Given the description of an element on the screen output the (x, y) to click on. 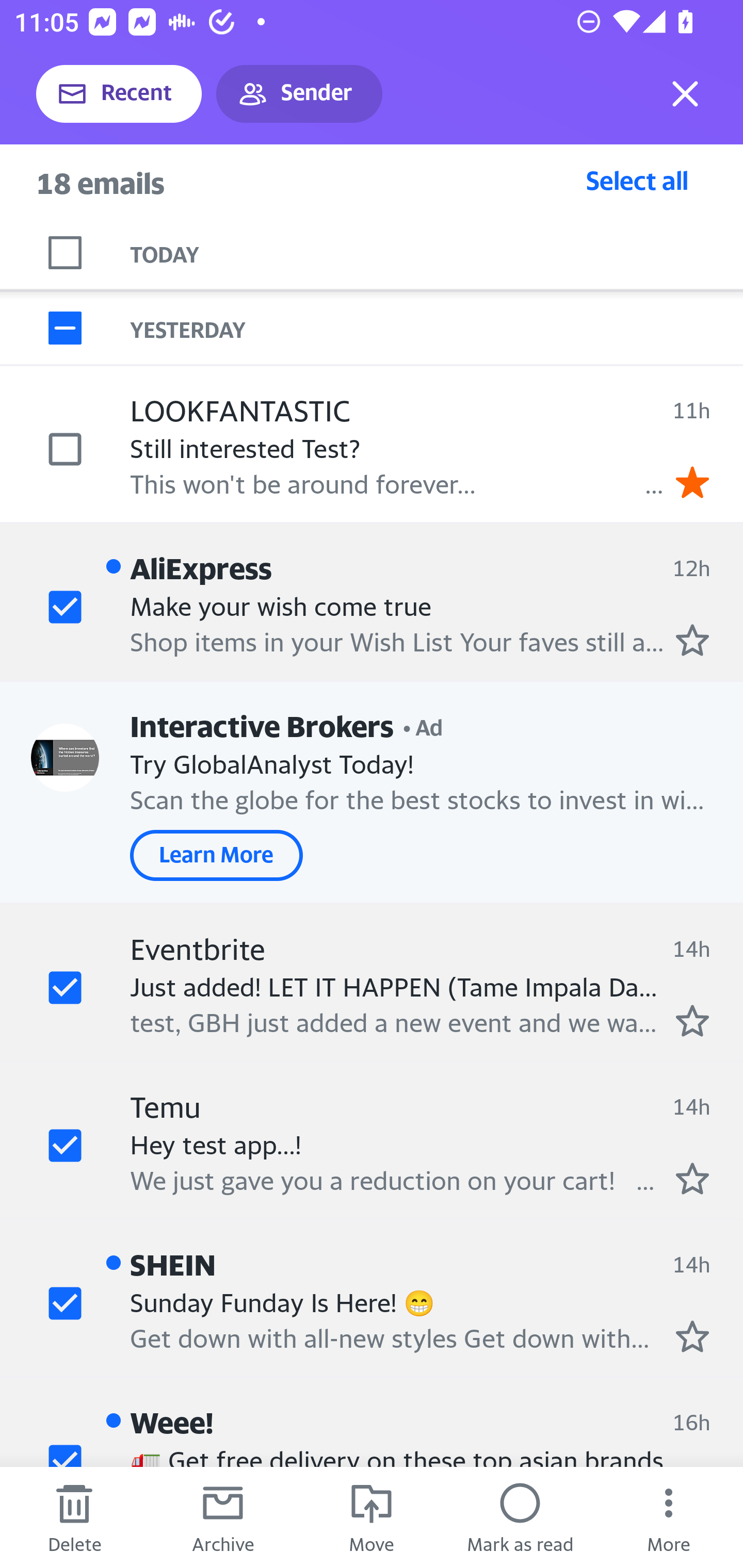
Sender (299, 93)
Exit selection mode (684, 93)
Select all (637, 180)
YESTERDAY (436, 328)
Remove star. (692, 482)
Mark as starred. (692, 640)
Mark as starred. (692, 1019)
Mark as starred. (692, 1178)
Mark as starred. (692, 1336)
Delete (74, 1517)
Archive (222, 1517)
Move (371, 1517)
Mark as read (519, 1517)
More (668, 1517)
